Given the description of an element on the screen output the (x, y) to click on. 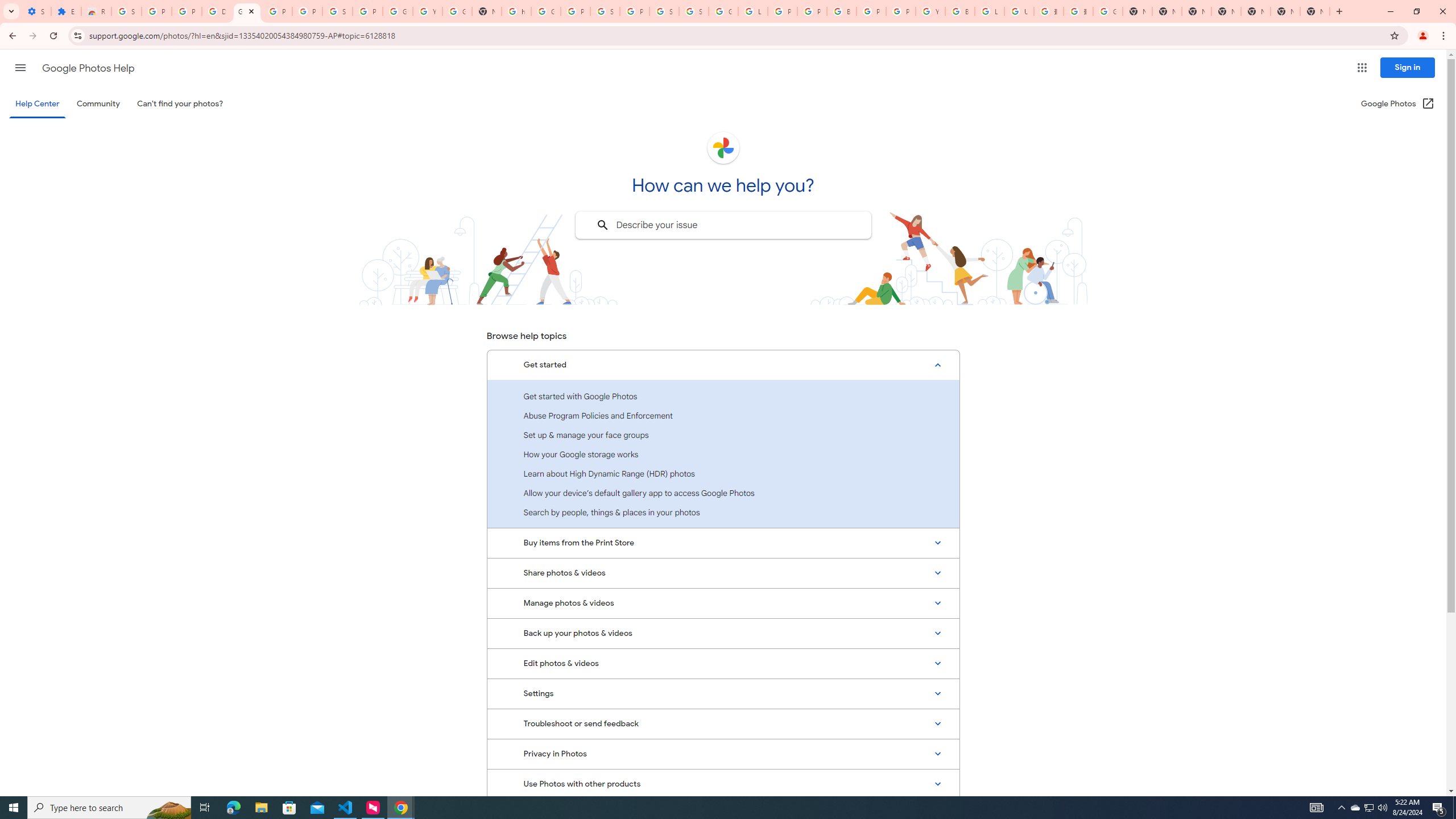
YouTube (426, 11)
Google Images (1107, 11)
Google Photos Help (247, 11)
Edit photos & videos (722, 663)
Share photos & videos (722, 573)
Get started, Expanded list with 7 items (722, 365)
Sign in - Google Accounts (664, 11)
Browse Chrome as a guest - Computer - Google Chrome Help (959, 11)
Buy items from the Print Store (722, 542)
Help Center (36, 103)
Sign in - Google Accounts (604, 11)
Troubleshoot or send feedback (722, 723)
